Given the description of an element on the screen output the (x, y) to click on. 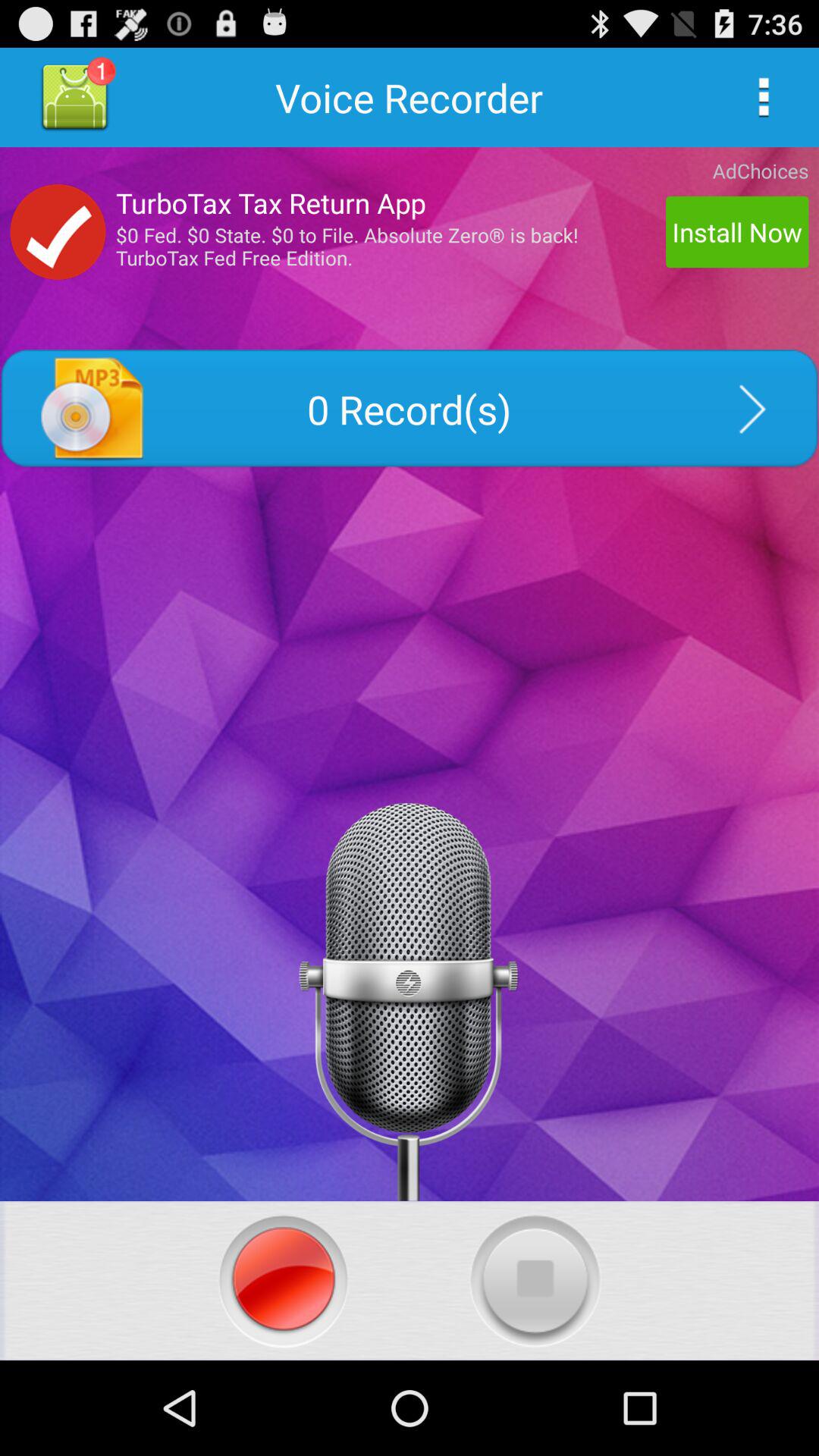
record the app (283, 1280)
